Given the description of an element on the screen output the (x, y) to click on. 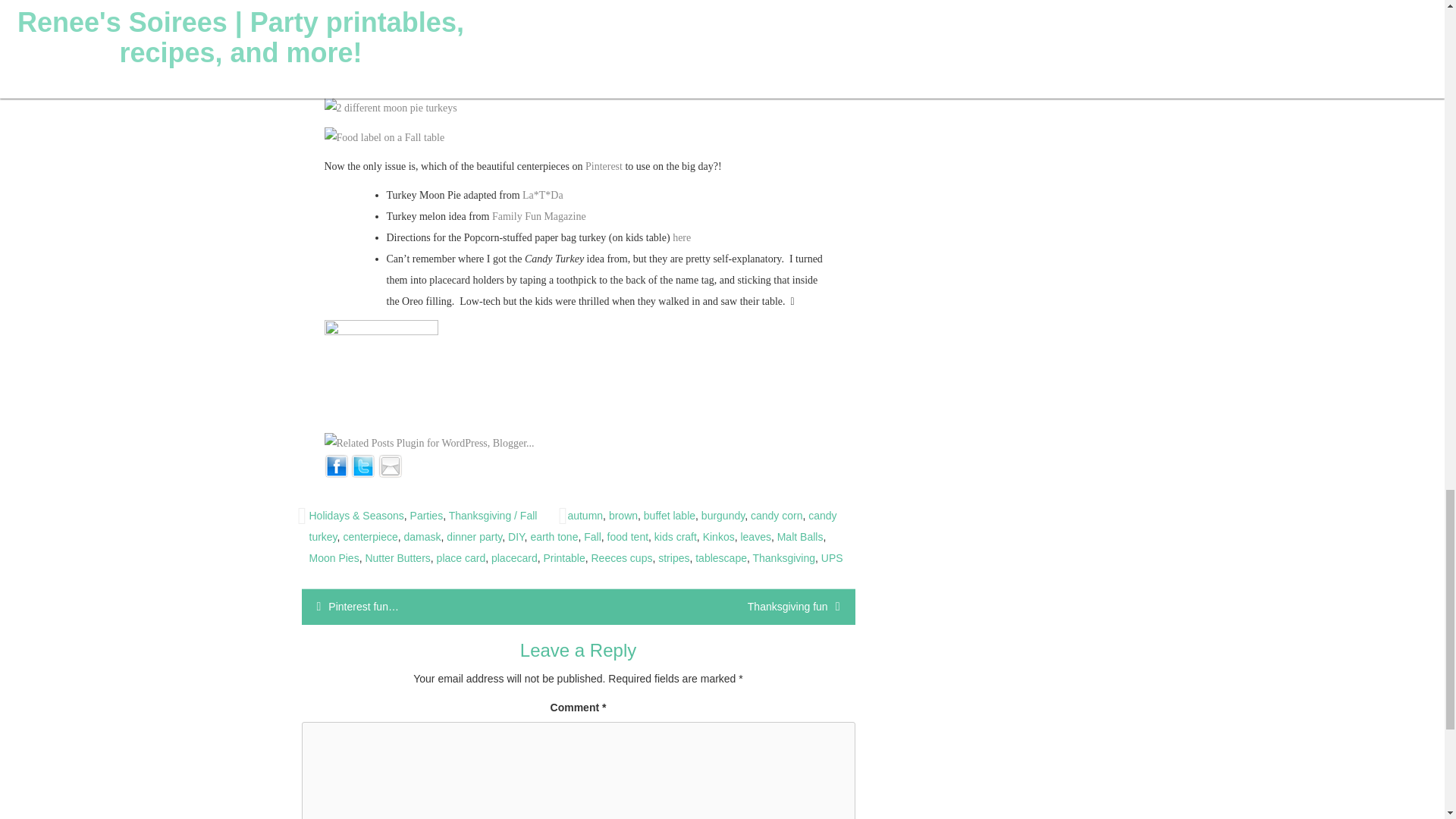
buffet-label-Renees-Soirees (384, 137)
Family Fun Magazine (539, 215)
Twitter (362, 464)
Paper Bag Turkey (681, 237)
Turkey Melon (539, 215)
kids table (657, 9)
Pinterest (604, 165)
Pinterest Thanksgiving (604, 165)
here (681, 237)
Turkey Moon Pie instructions (542, 194)
